Given the description of an element on the screen output the (x, y) to click on. 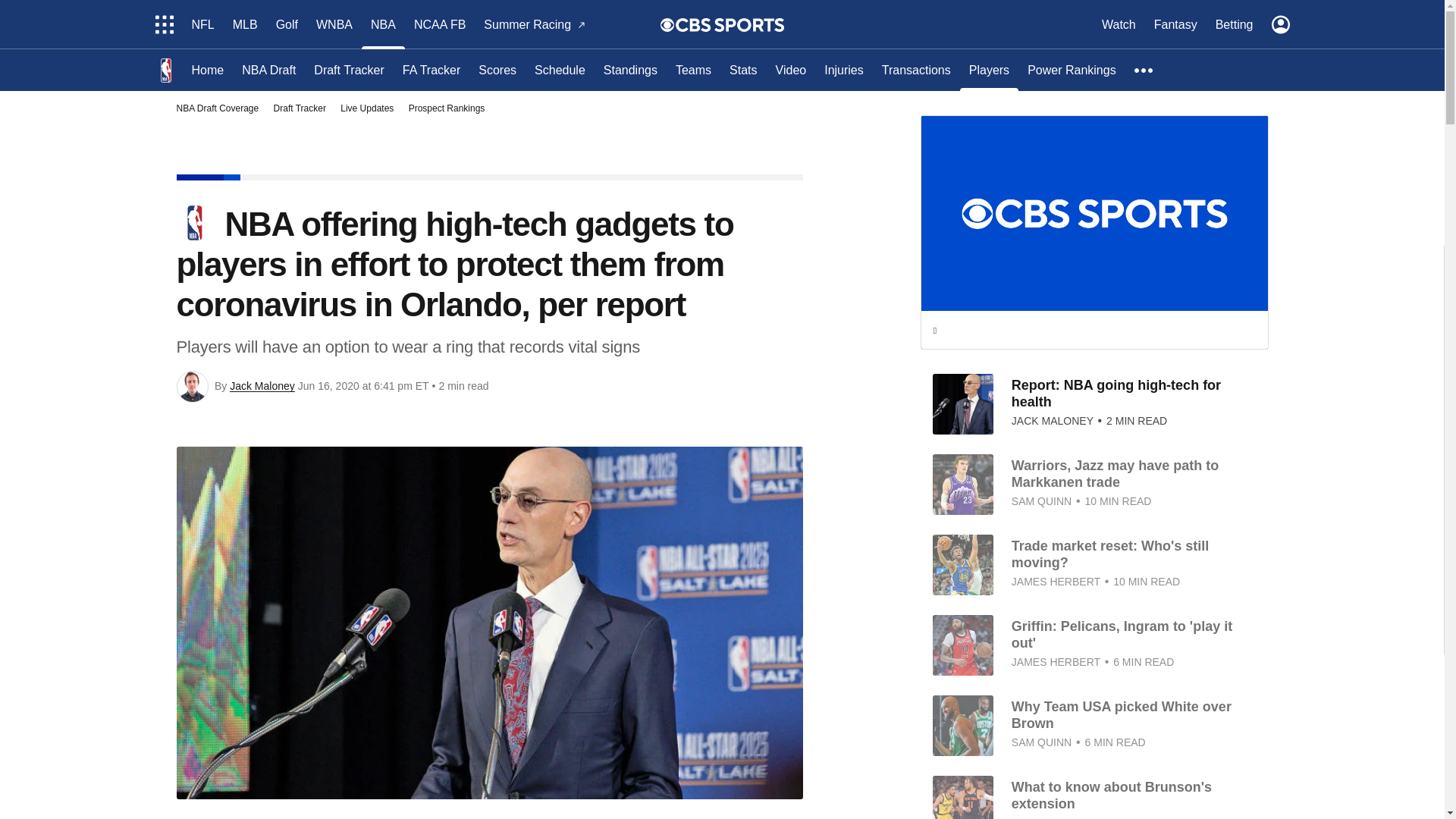
CBS Eye (667, 24)
